Given the description of an element on the screen output the (x, y) to click on. 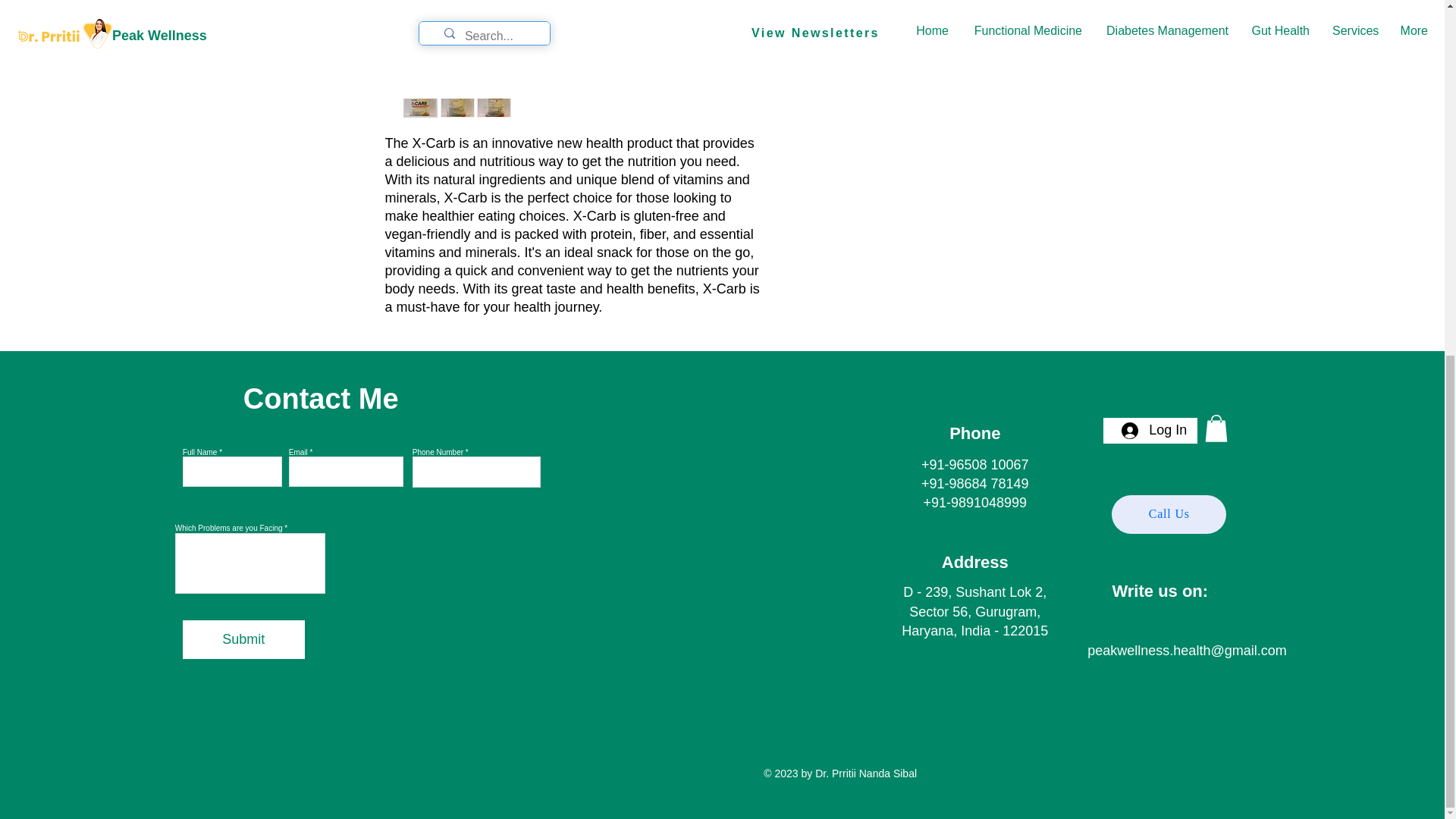
Submit (243, 639)
Call Us (1168, 514)
Log In (1153, 430)
